Given the description of an element on the screen output the (x, y) to click on. 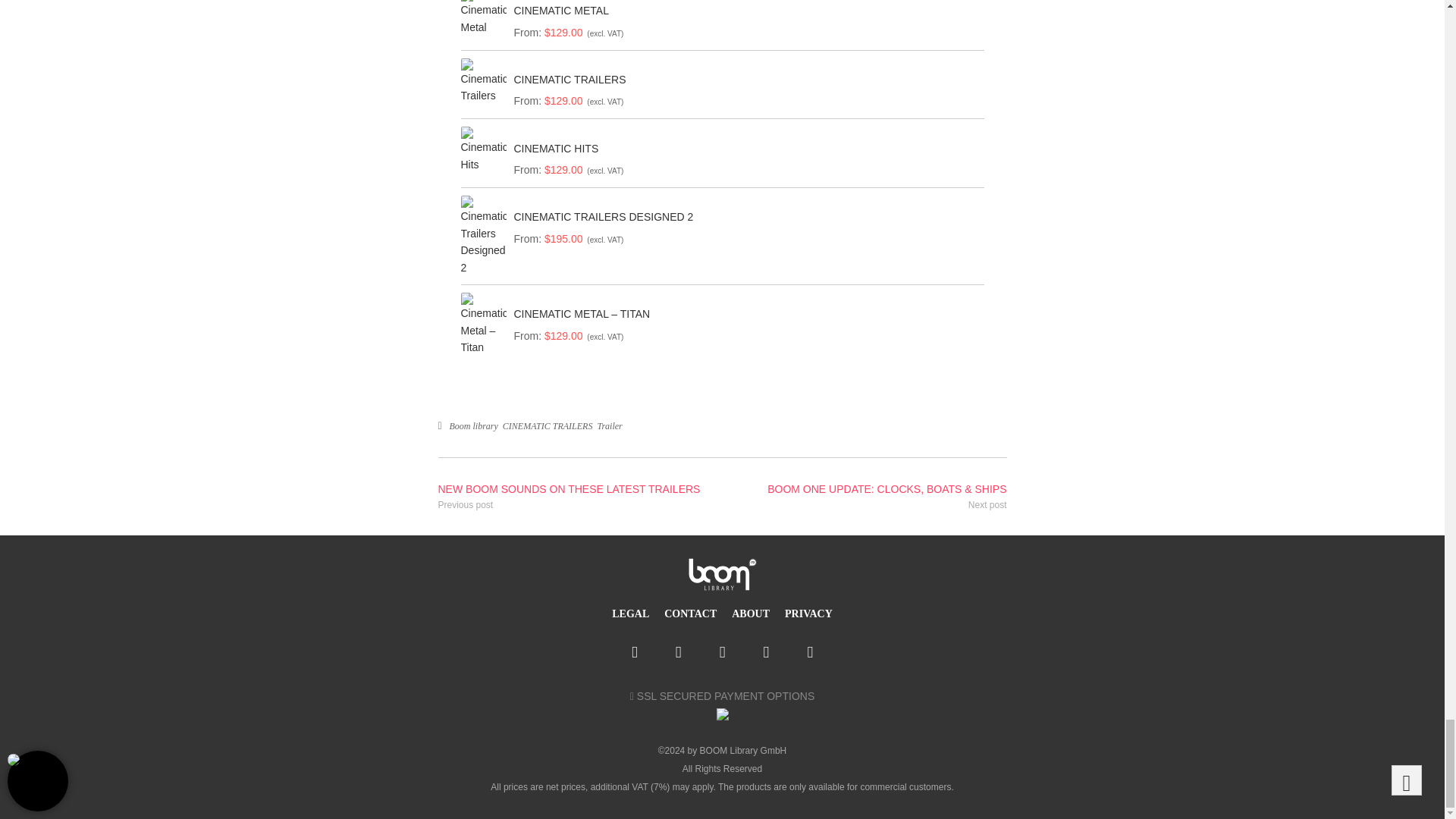
CINEMATIC TRAILERS (744, 79)
CINEMATIC HITS (744, 148)
CINEMATIC METAL (744, 10)
CINEMATIC TRAILERS DESIGNED 2 (744, 216)
